Given the description of an element on the screen output the (x, y) to click on. 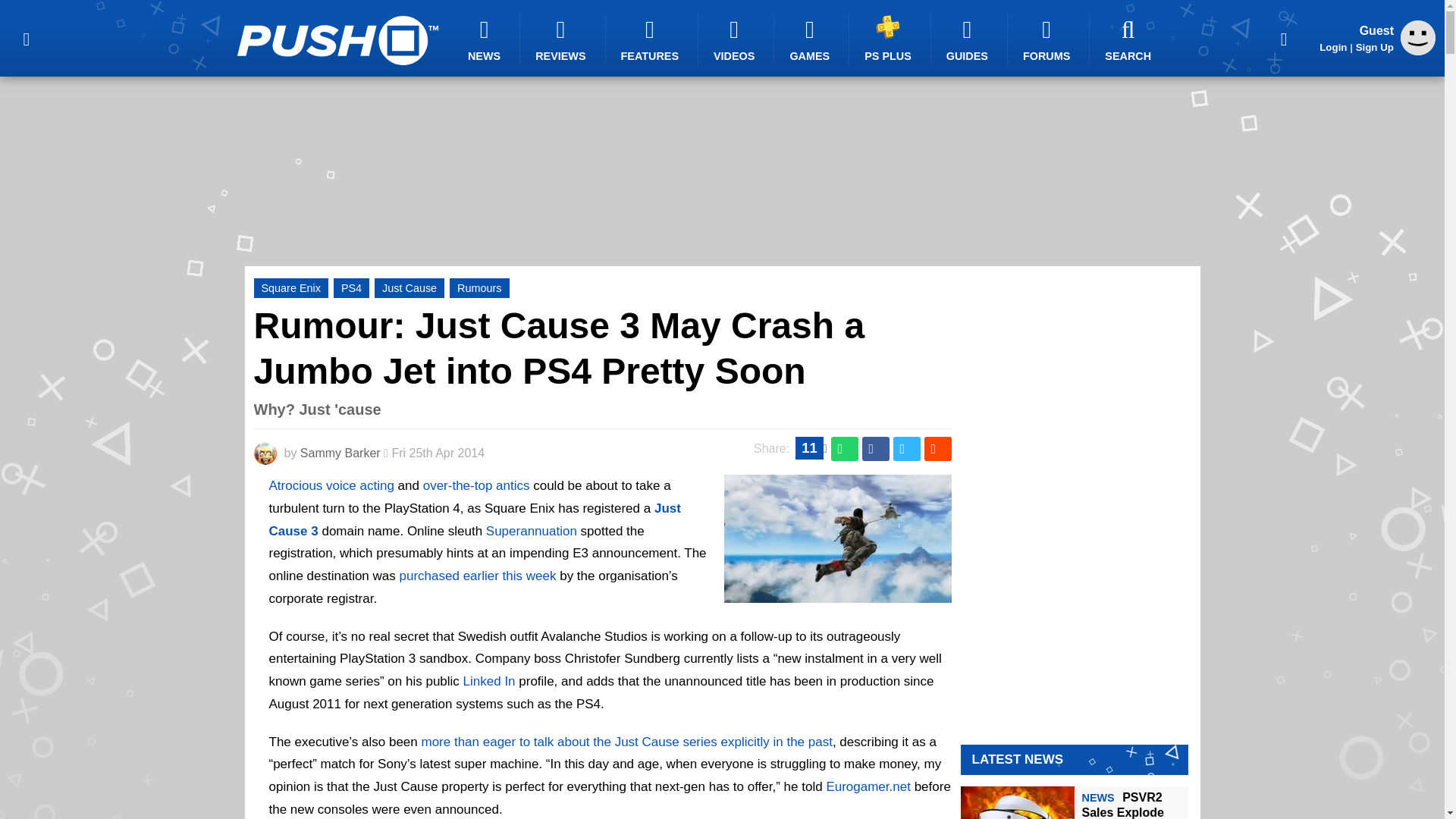
Sky high (836, 593)
Share This Page (1283, 37)
Sign Up (1374, 47)
PS PLUS (889, 38)
Share this on Twitter (906, 448)
NEWS (485, 39)
Push Square (336, 40)
REVIEWS (562, 39)
Menu (26, 37)
Square Enix (290, 288)
PS4 (351, 288)
Sammy Barker (339, 452)
Push Square (336, 40)
VIDEOS (736, 39)
Share this on WhatsApp (845, 448)
